Given the description of an element on the screen output the (x, y) to click on. 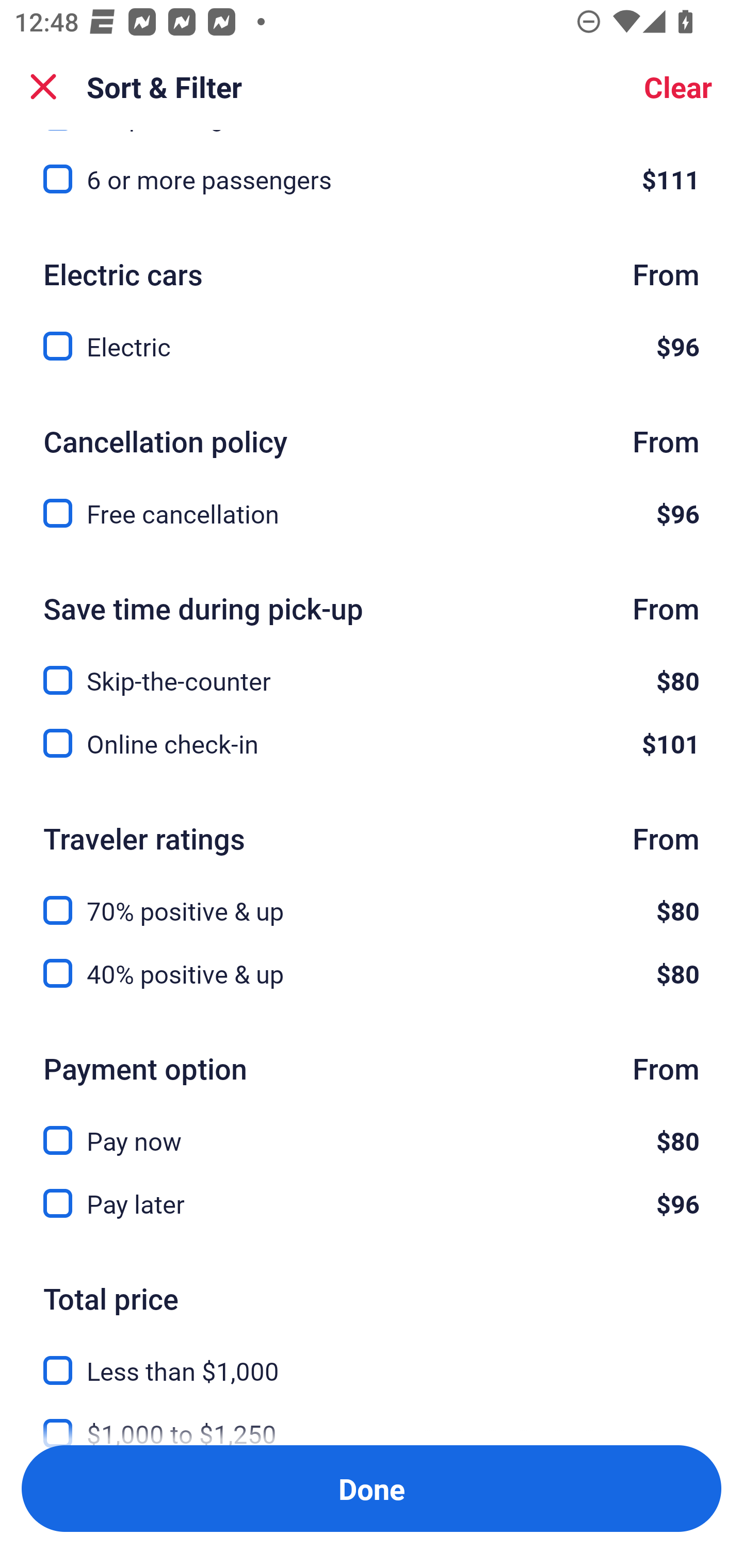
Close Sort and Filter (43, 86)
Clear (677, 86)
Electric, $96 Electric $96 (371, 346)
Free cancellation, $96 Free cancellation $96 (371, 513)
Skip-the-counter, $80 Skip-the-counter $80 (371, 669)
Online check-in, $101 Online check-in $101 (371, 743)
70% positive & up, $80 70% positive & up $80 (371, 898)
40% positive & up, $80 40% positive & up $80 (371, 973)
Pay now, $80 Pay now $80 (371, 1128)
Pay later, $96 Pay later $96 (371, 1203)
Less than $1,000, Less than $1,000 (371, 1359)
$1,000 to $1,250, $1,000 to $1,250 (371, 1417)
Apply and close Sort and Filter Done (371, 1488)
